Given the description of an element on the screen output the (x, y) to click on. 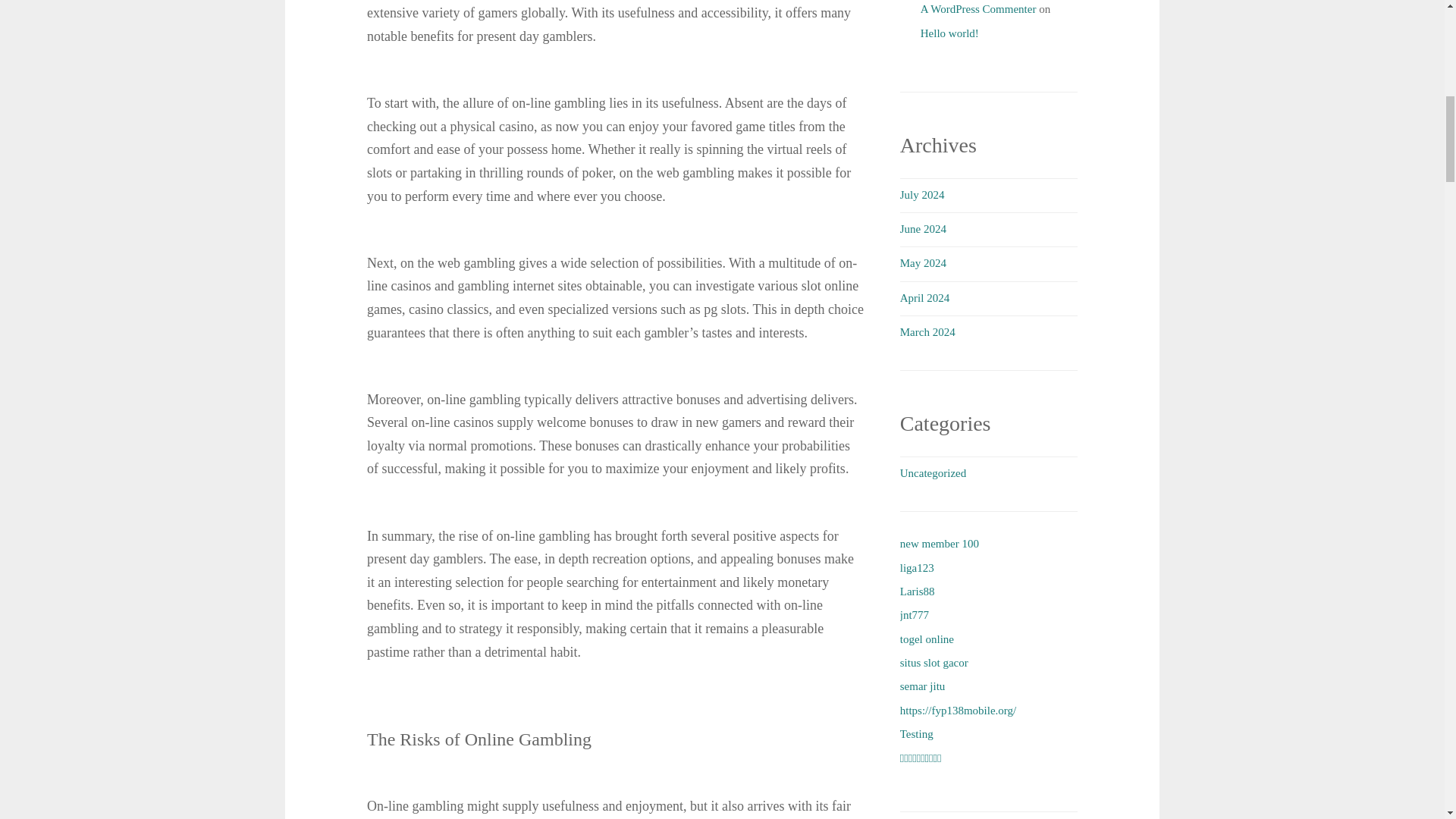
July 2024 (921, 193)
A WordPress Commenter (978, 9)
semar jitu (921, 686)
June 2024 (922, 228)
March 2024 (927, 331)
liga123 (916, 567)
Testing (916, 734)
jnt777 (913, 614)
April 2024 (924, 297)
May 2024 (922, 263)
Hello world! (949, 33)
togel online (926, 639)
new member 100 (938, 543)
Uncategorized (932, 472)
Laris88 (916, 591)
